Given the description of an element on the screen output the (x, y) to click on. 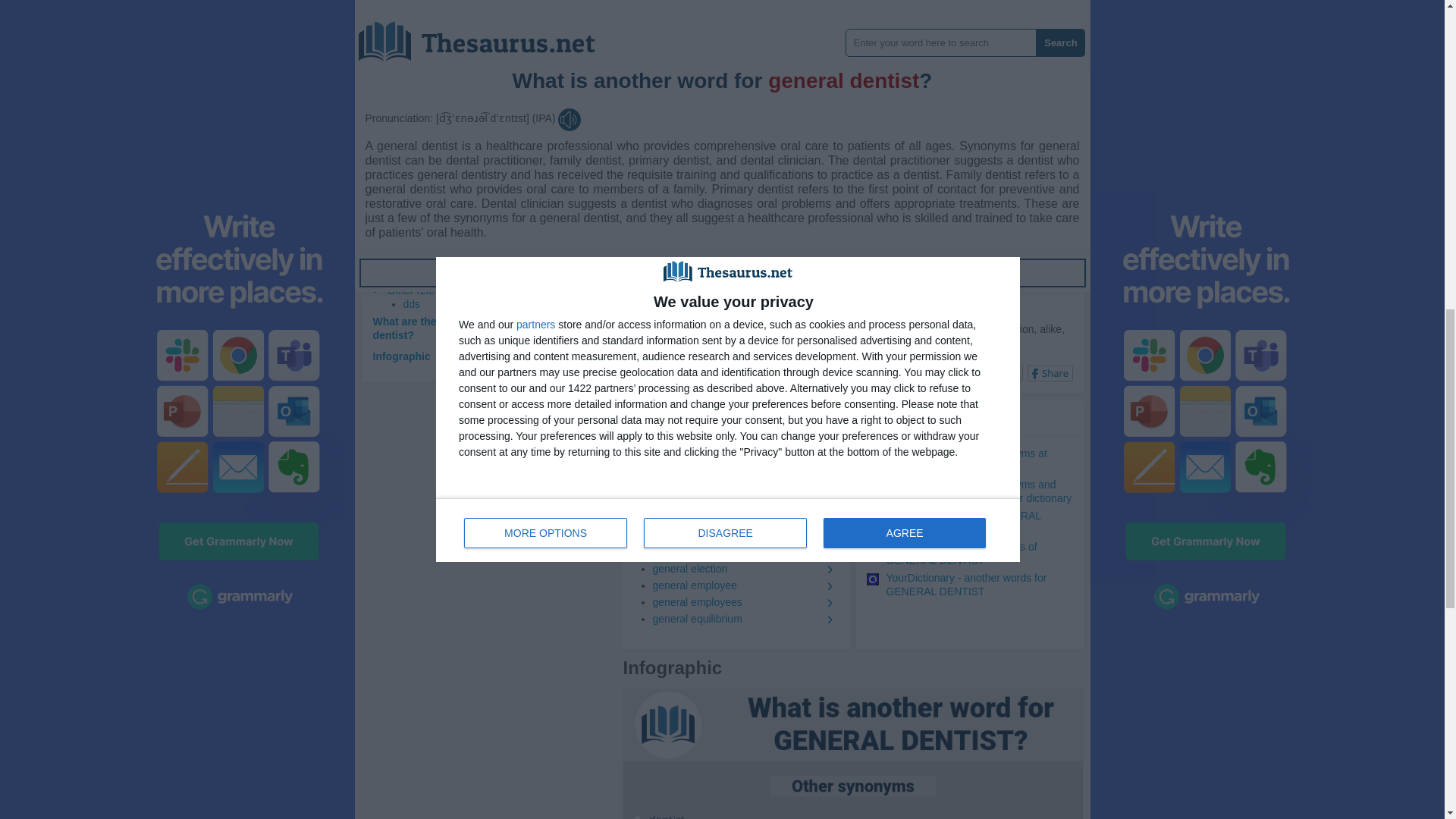
Other relevant words: (437, 290)
Synonyms for General dentist (678, 39)
General Custer (745, 471)
general employees (745, 601)
general education (745, 551)
dental practitioner (704, 189)
maxillofacial surgeon (756, 205)
What are the hypernyms for general dentist? (463, 328)
dentist (678, 39)
What is another word for general dentist? (477, 247)
dental surgeon (788, 189)
Infographic (401, 356)
general employee (745, 585)
general election (745, 568)
dds (411, 304)
